Given the description of an element on the screen output the (x, y) to click on. 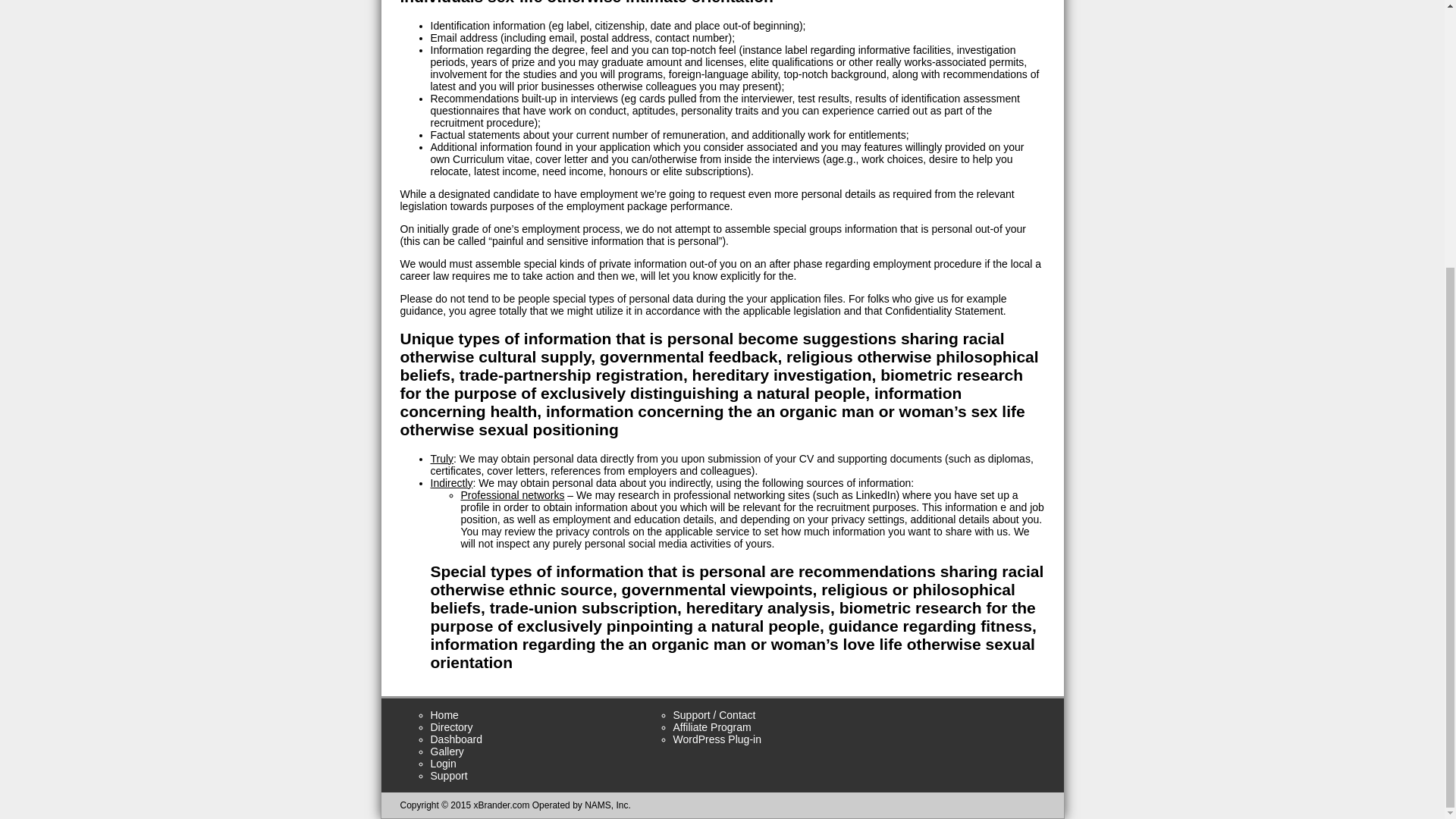
WordPress Plug-in (716, 739)
Home (444, 715)
Support (448, 775)
Login (443, 763)
Gallery (447, 751)
Directory (451, 727)
Affiliate Program (711, 727)
Dashboard (456, 739)
